Given the description of an element on the screen output the (x, y) to click on. 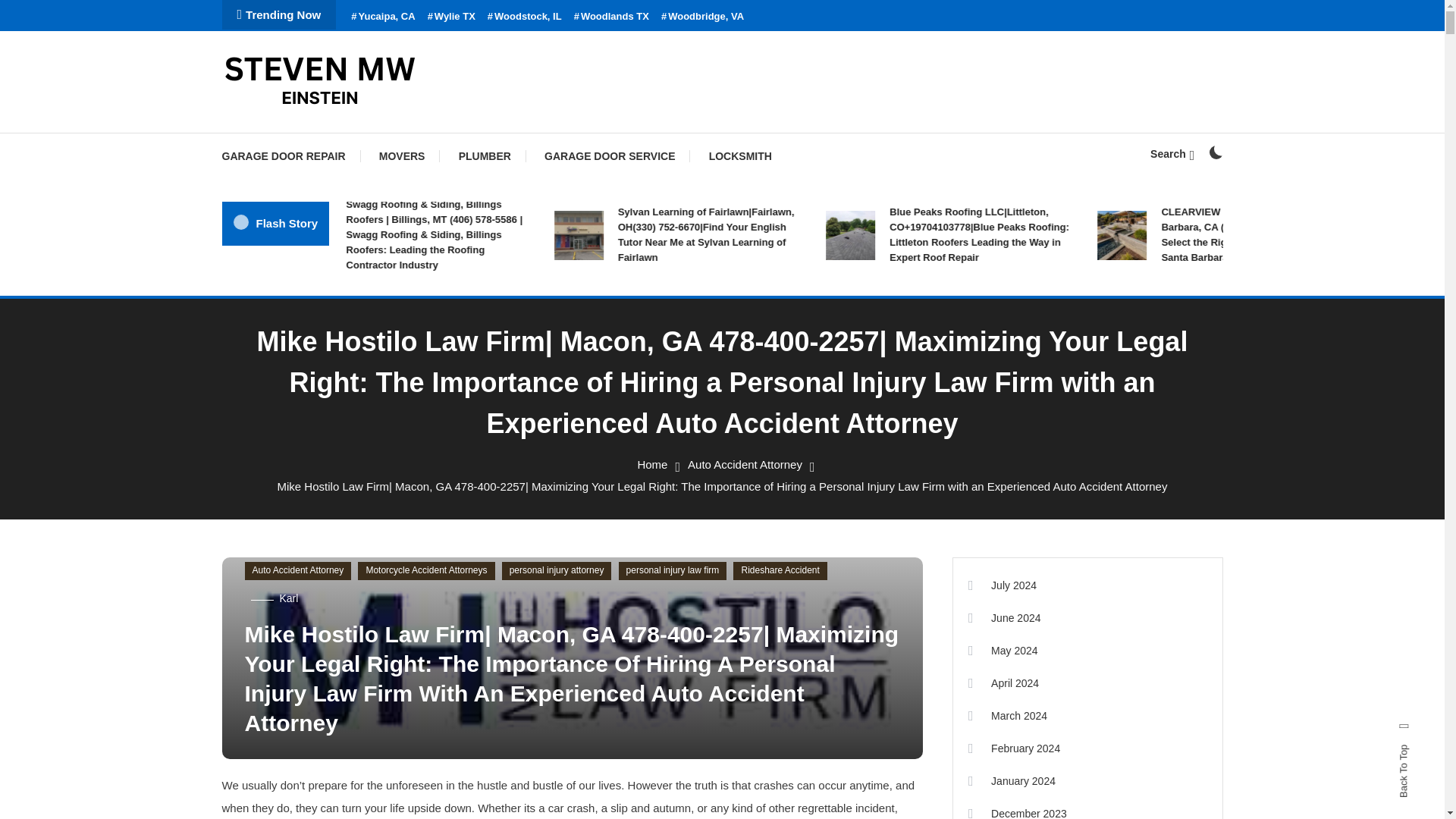
GARAGE DOOR SERVICE (609, 156)
Woodstock, IL (524, 16)
Auto Accident Attorney (744, 463)
Woodlands TX (611, 16)
Search (768, 434)
GARAGE DOOR REPAIR (290, 156)
Wylie TX (452, 16)
personal injury attorney (556, 570)
Yucaipa, CA (382, 16)
Home (651, 463)
Search (1171, 153)
PLUMBER (484, 156)
Motorcycle Accident Attorneys (426, 570)
Auto Accident Attorney (297, 570)
LOCKSMITH (740, 156)
